Given the description of an element on the screen output the (x, y) to click on. 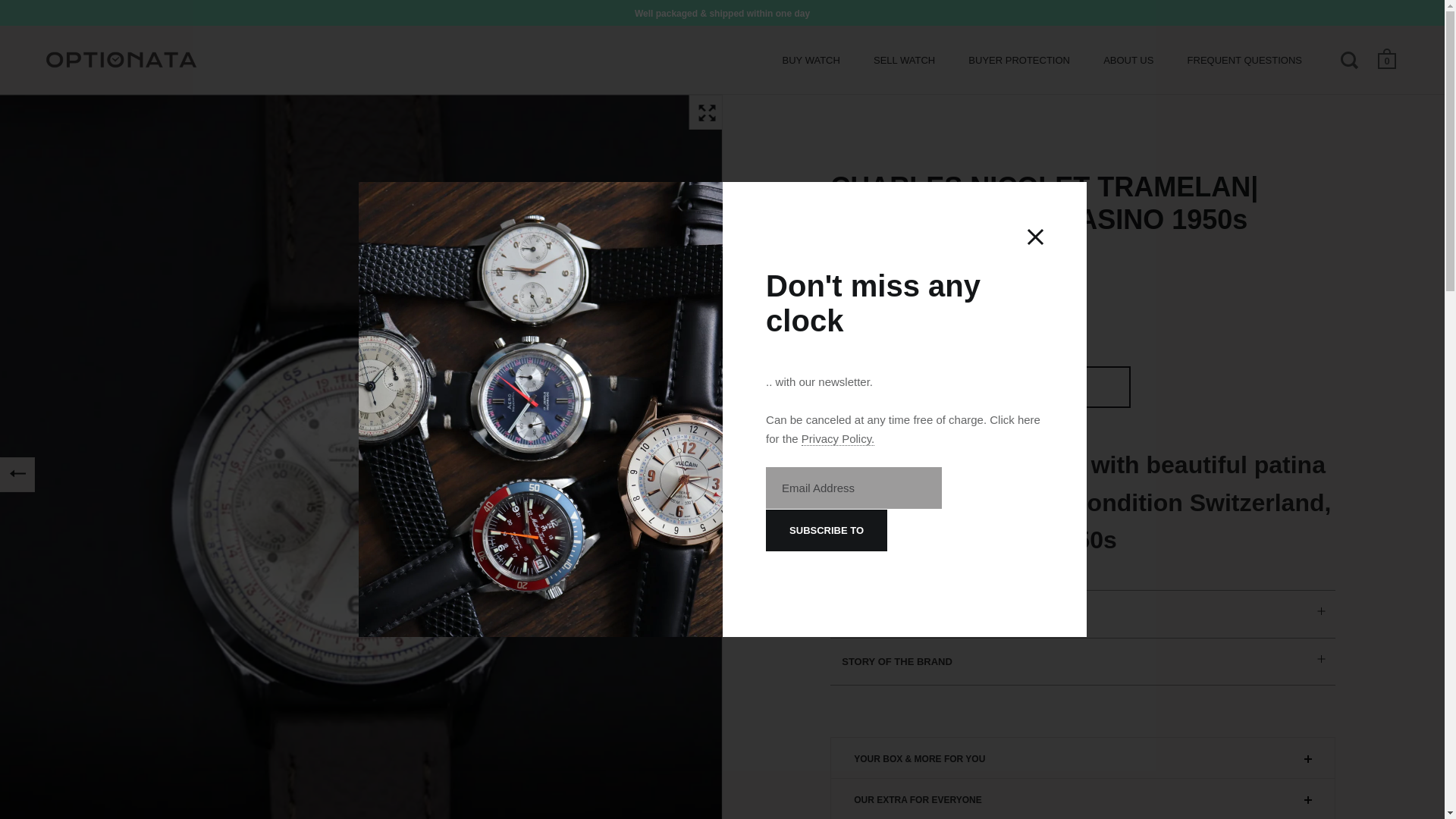
shopping cart (1387, 58)
BUYER PROTECTION (1018, 60)
ADD TO CART (980, 386)
Shipping (933, 338)
ABOUT US (1128, 60)
Seek (1350, 59)
Subscribe to (825, 530)
FREQUENT QUESTIONS (1244, 60)
SELL WATCH (904, 60)
Charles Nicolet (899, 260)
BUY WATCH (811, 60)
Zoom (705, 111)
Charles Nicolet (899, 260)
